Given the description of an element on the screen output the (x, y) to click on. 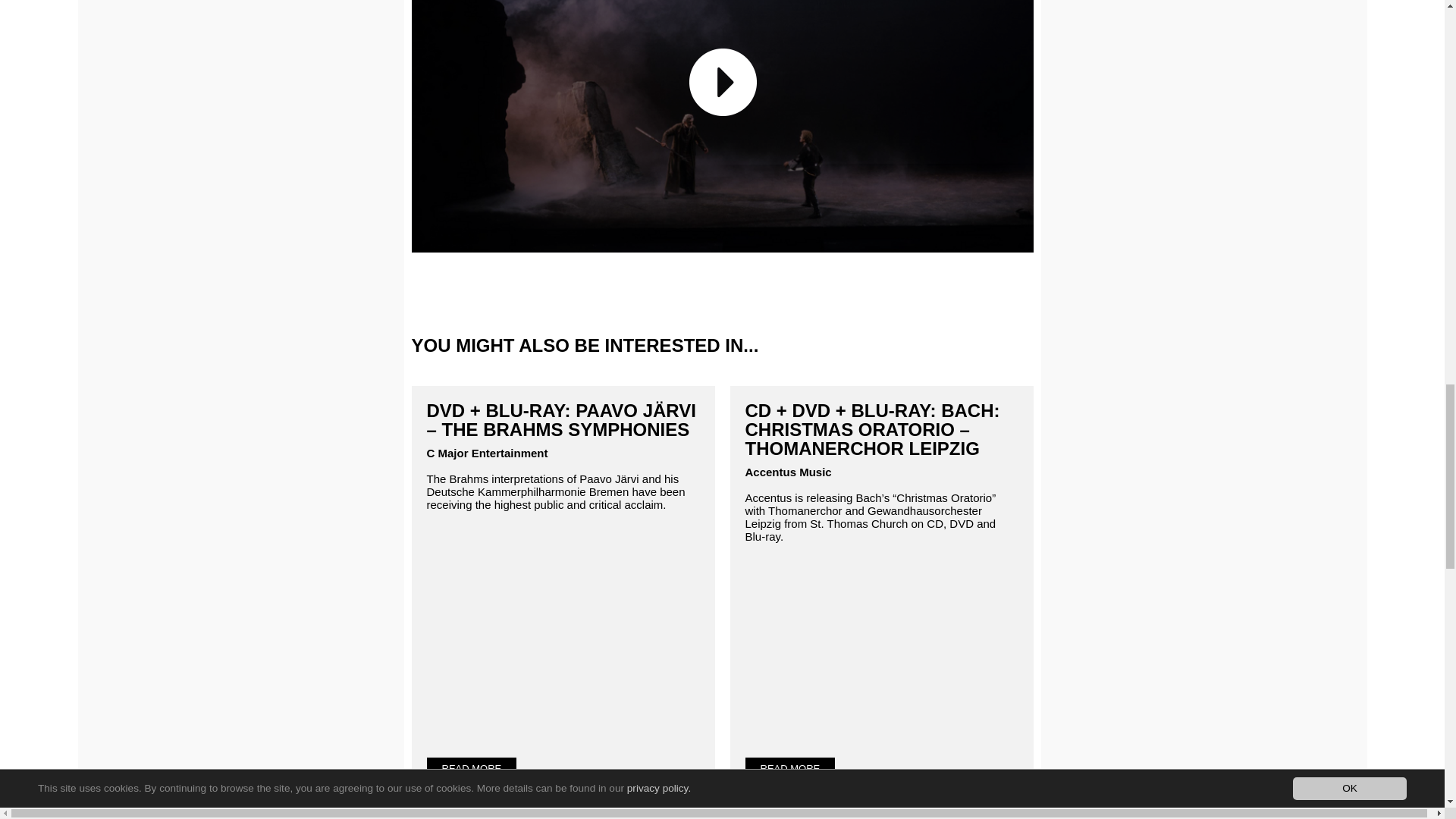
READ MORE (789, 768)
READ MORE (471, 768)
